Given the description of an element on the screen output the (x, y) to click on. 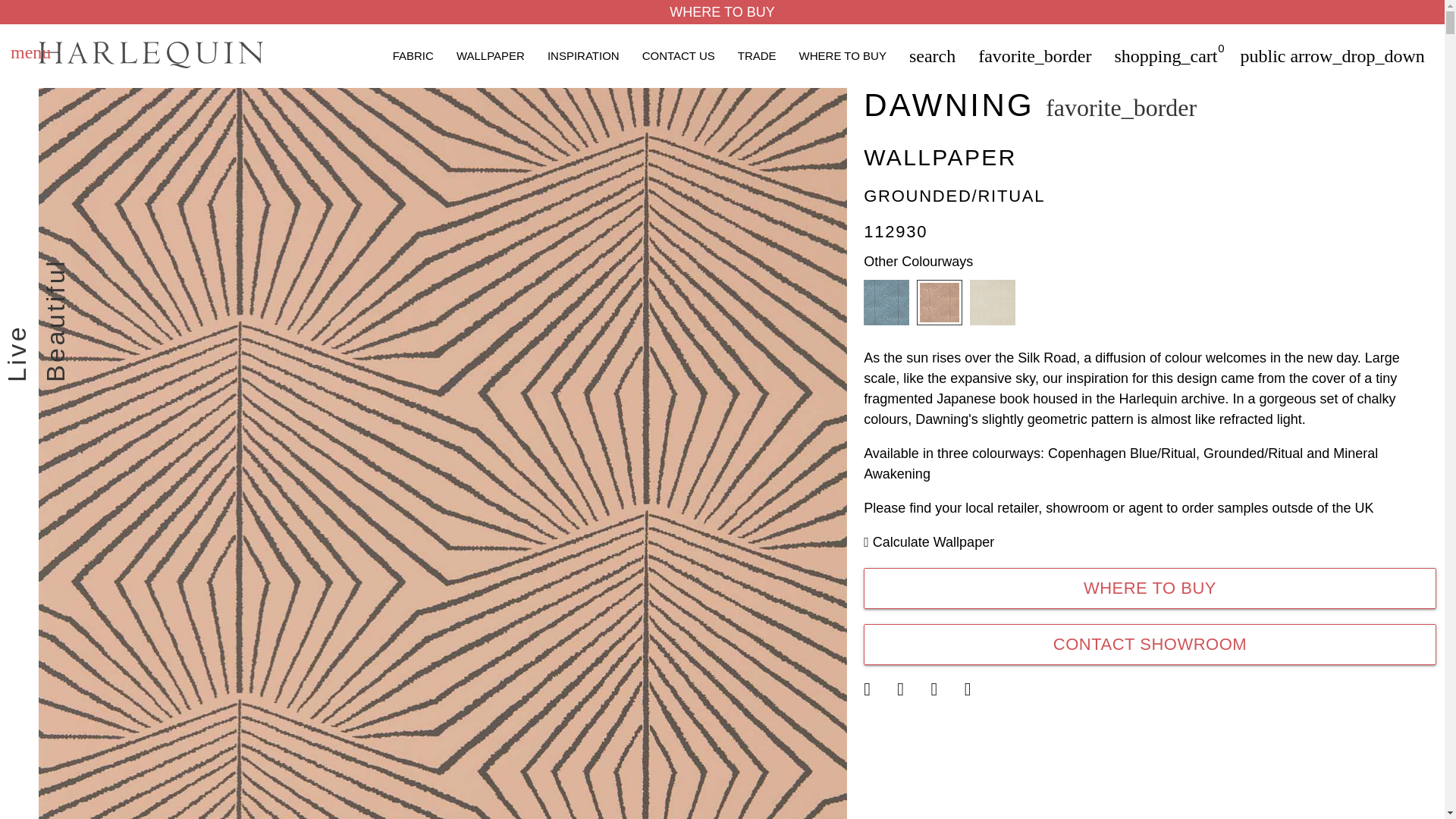
menu (30, 54)
add favourite (1120, 107)
Share on FaceBook (911, 689)
Print this page (978, 690)
Share by Email (945, 689)
WHERE TO BUY (721, 11)
Share on X (878, 689)
